Given the description of an element on the screen output the (x, y) to click on. 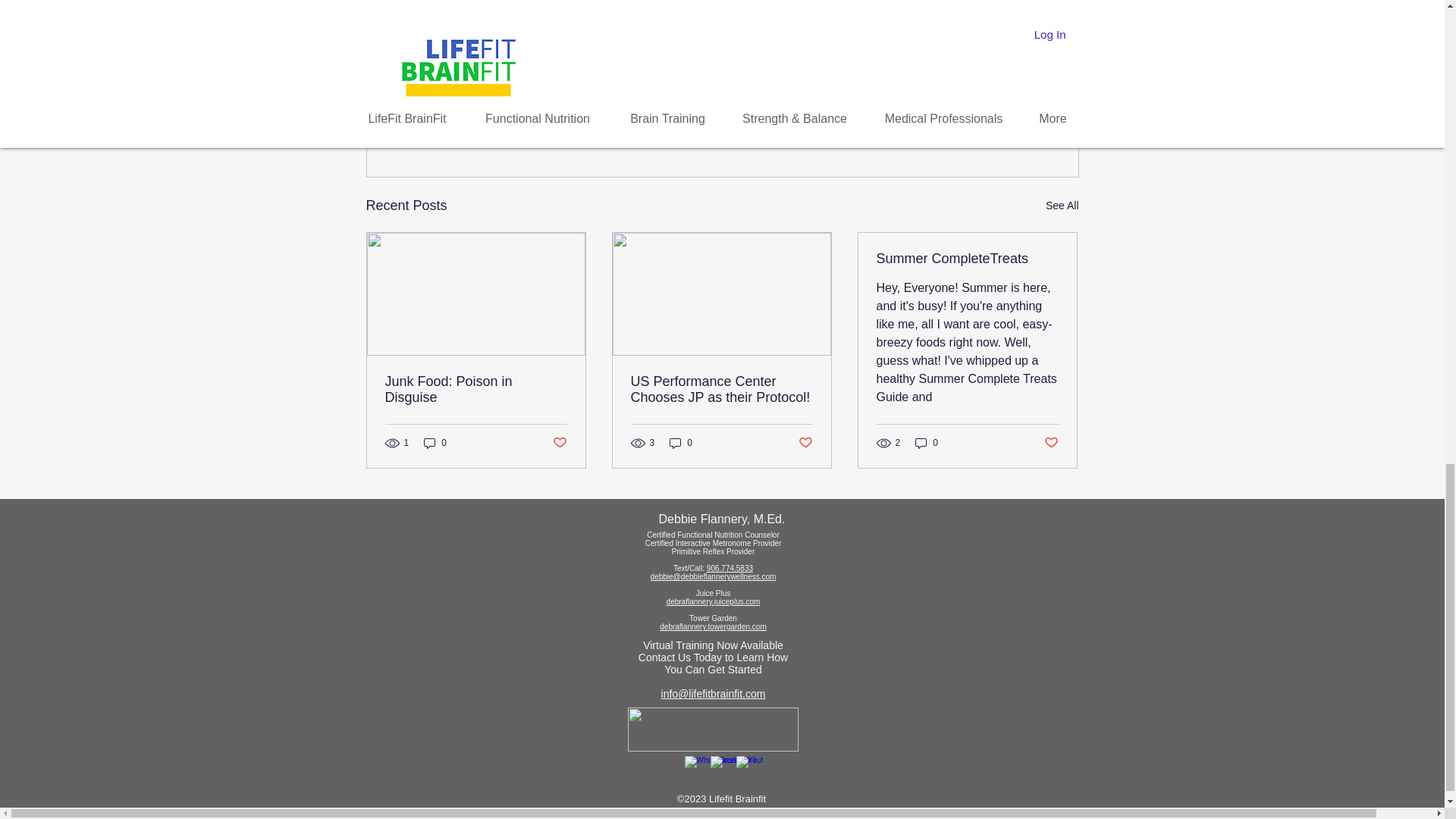
0 (681, 442)
US Performance Center Chooses JP as their Protocol! (721, 389)
See All (1061, 205)
Post not marked as liked (995, 123)
0 (435, 442)
im-logo.png (712, 729)
Post not marked as liked (804, 442)
Junk Food: Poison in Disguise (476, 389)
Post not marked as liked (558, 442)
Summer CompleteTreats (967, 258)
